Given the description of an element on the screen output the (x, y) to click on. 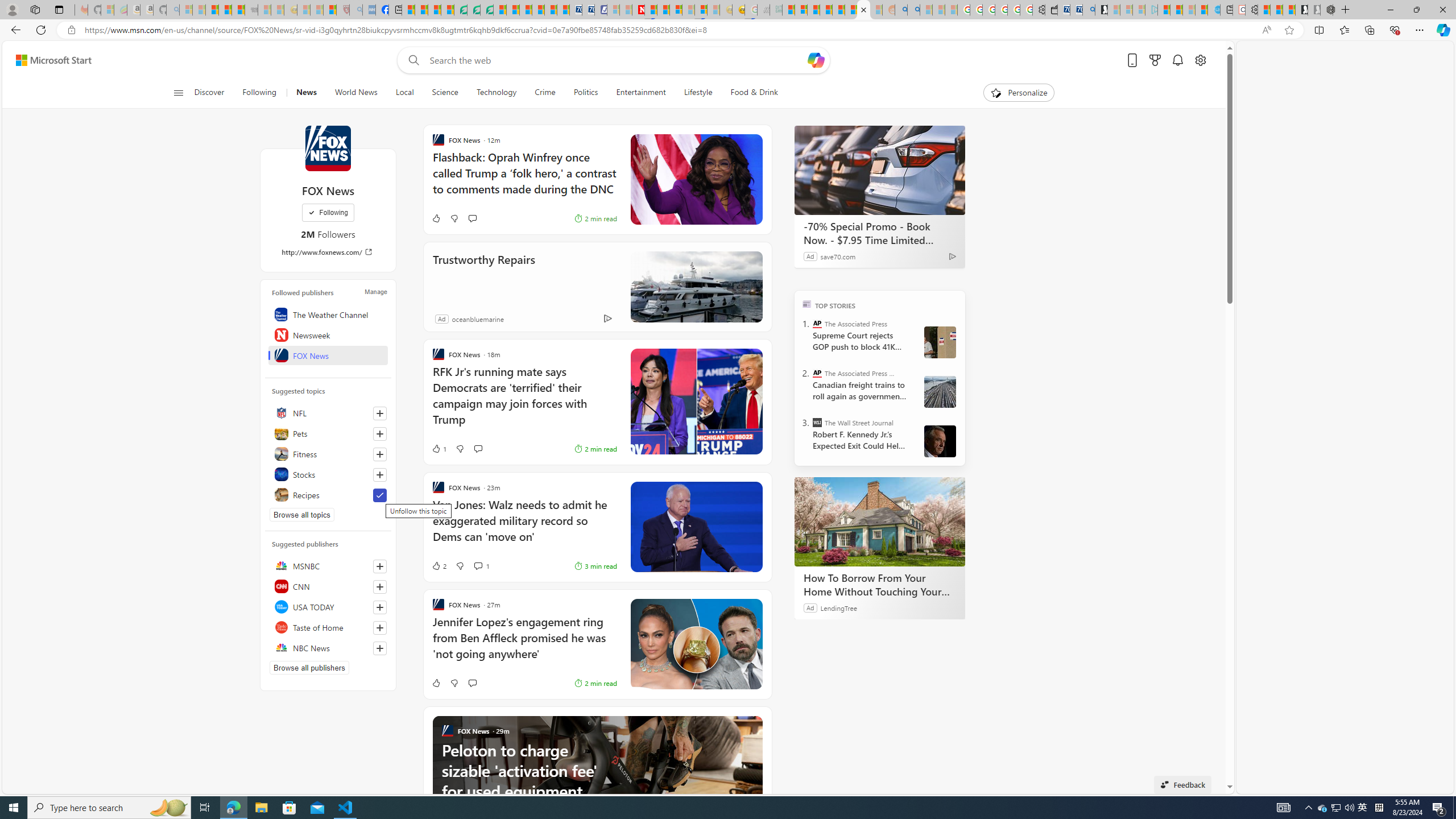
Follow this source (379, 648)
FOX News (327, 148)
New Report Confirms 2023 Was Record Hot | Watch (237, 9)
